Given the description of an element on the screen output the (x, y) to click on. 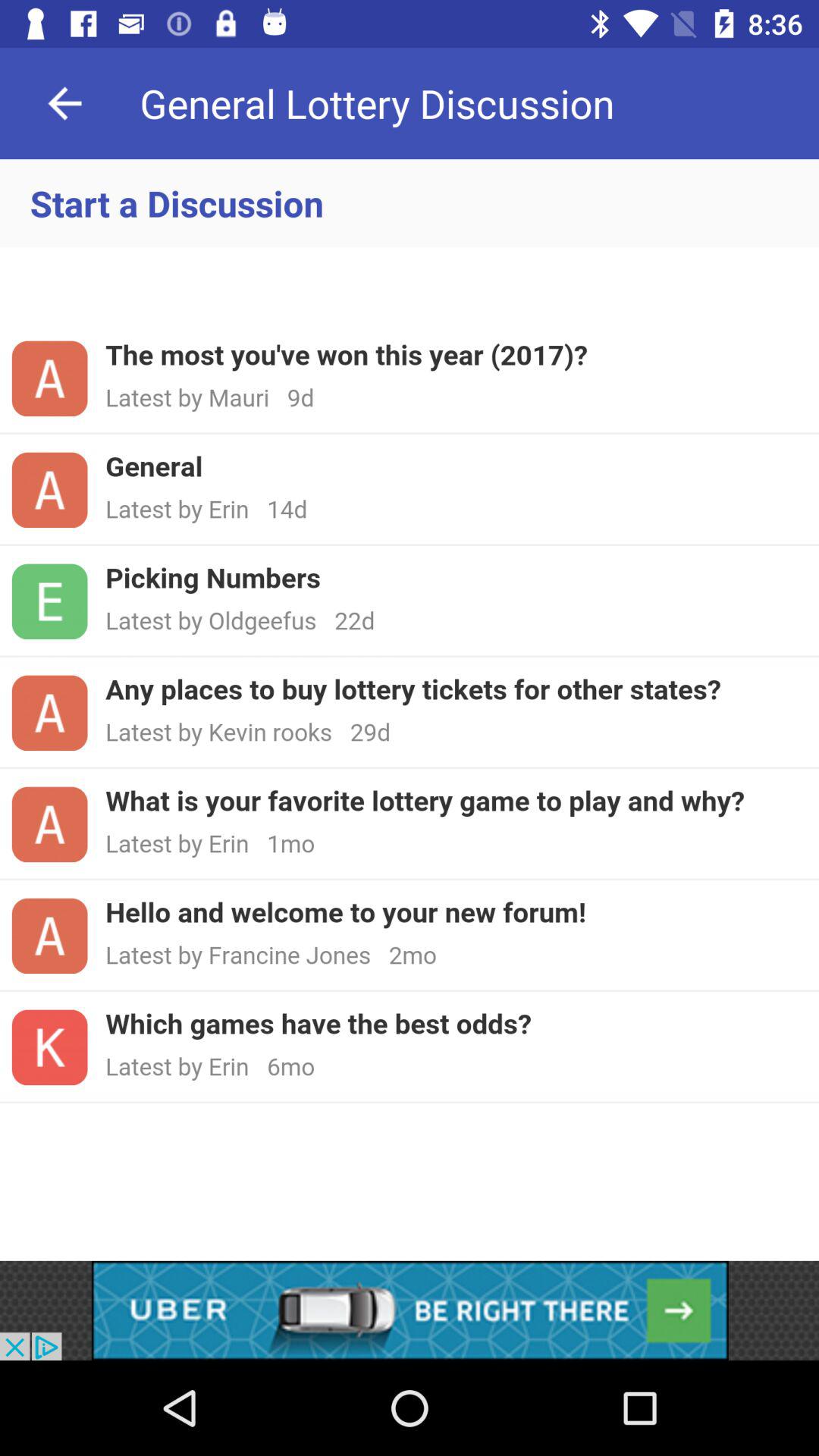
advertisement from outside source (409, 1310)
